Given the description of an element on the screen output the (x, y) to click on. 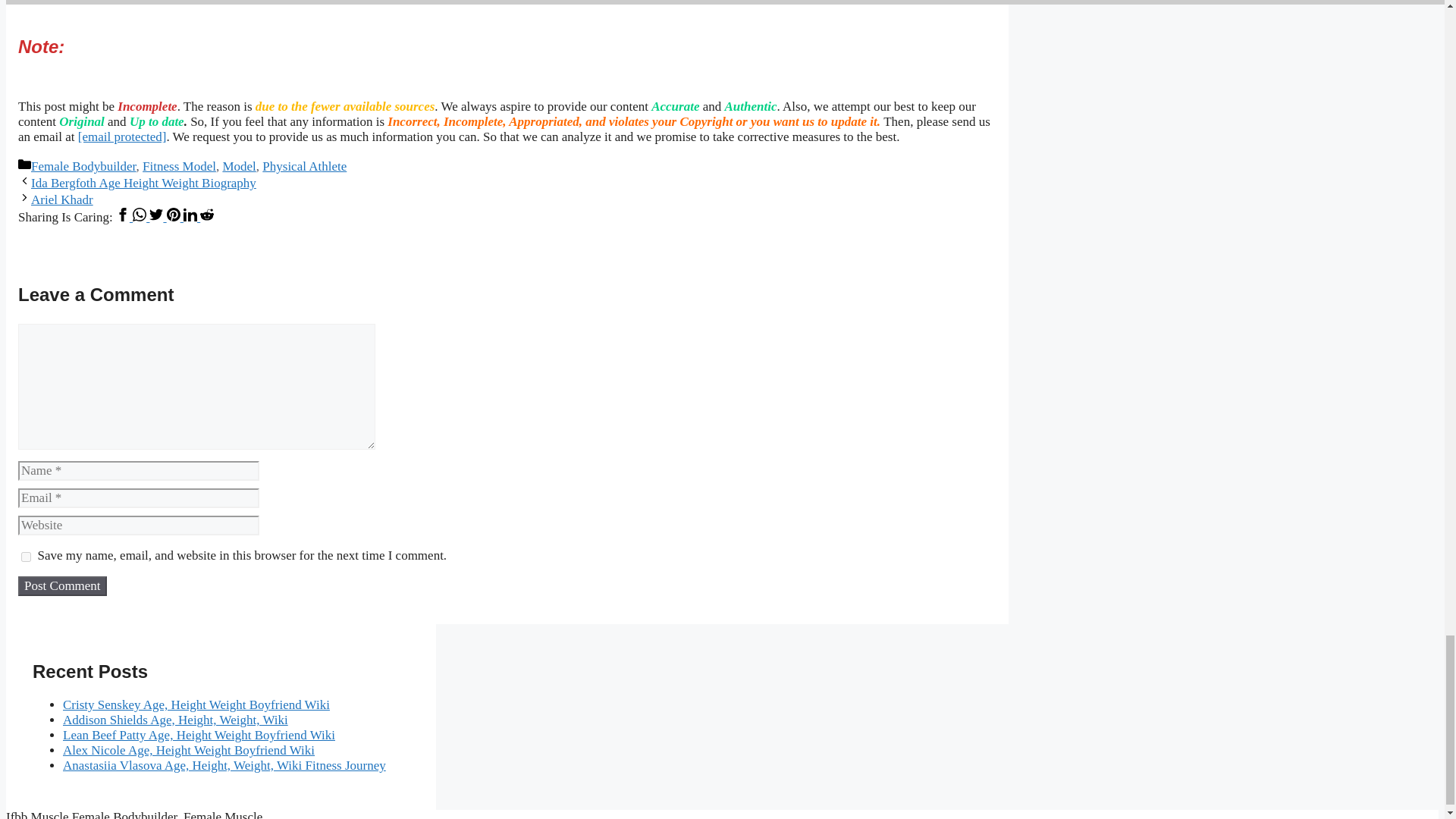
Fitness Model (178, 165)
Model (239, 165)
Physical Athlete (304, 165)
Ida Bergfoth Age Height Weight Biography (143, 183)
Female Bodybuilder (83, 165)
yes (25, 556)
Ariel Khadr (61, 199)
Post Comment (61, 586)
